Given the description of an element on the screen output the (x, y) to click on. 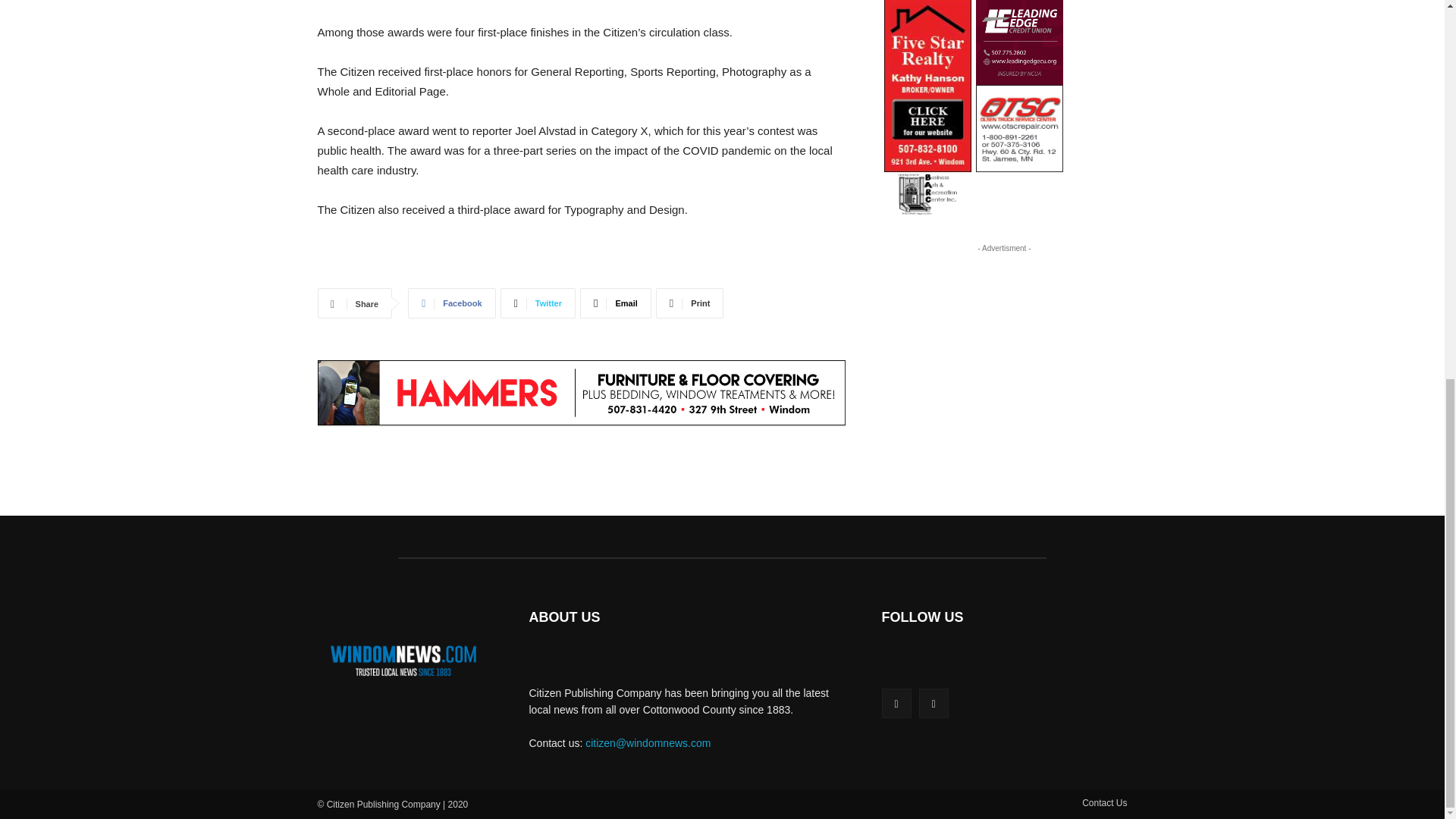
Print (689, 303)
Facebook (451, 303)
Email (614, 303)
Advertisement (1003, 350)
Facebook (895, 703)
Print (689, 303)
Twitter (537, 303)
Facebook (451, 303)
Twitter (537, 303)
Email (614, 303)
